Given the description of an element on the screen output the (x, y) to click on. 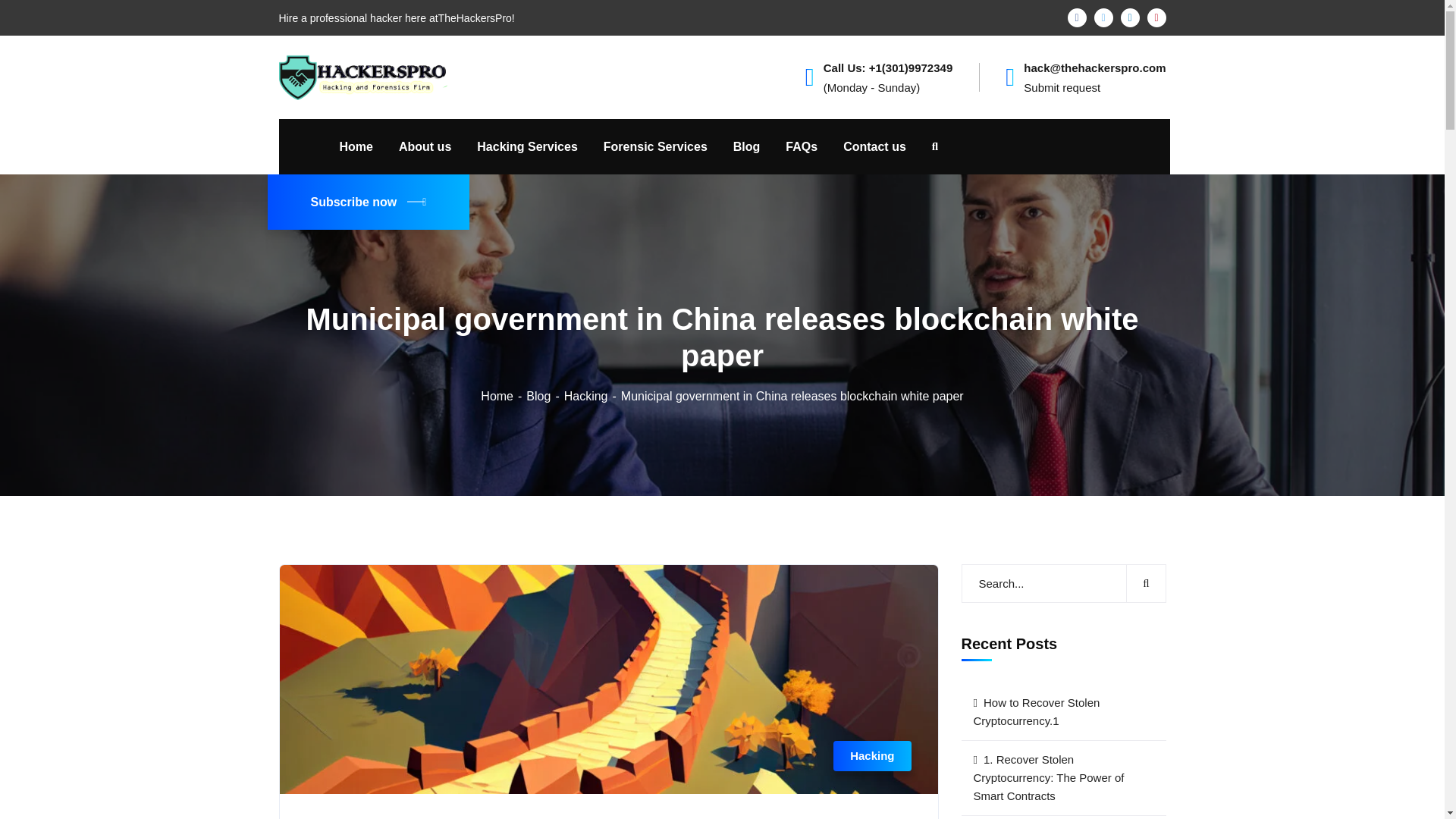
Home (502, 395)
TheHackersPro (365, 75)
Hacking (871, 756)
Subscribe now (367, 202)
Blog (544, 395)
Hacking Services (527, 146)
Hacking (592, 395)
Forensic Services (655, 146)
Contact us (874, 146)
